Given the description of an element on the screen output the (x, y) to click on. 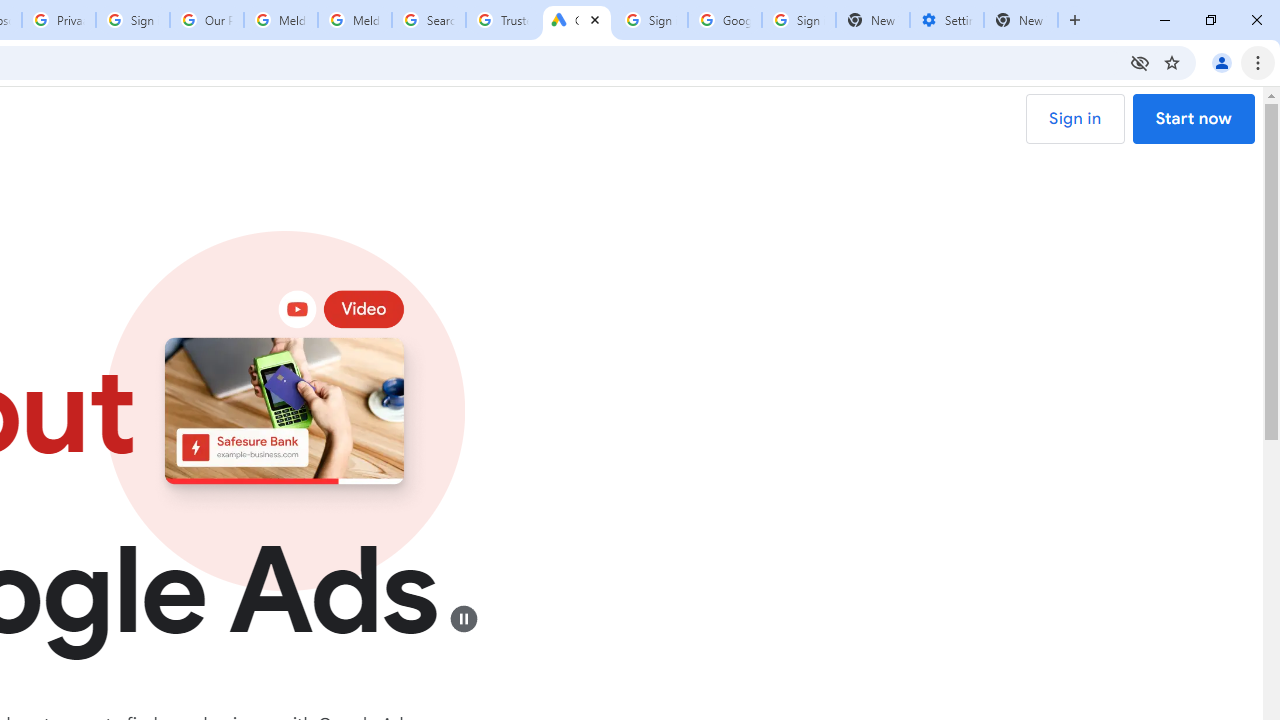
Sign in - Google Accounts (133, 20)
Sign in - Google Accounts (651, 20)
Google Cybersecurity Innovations - Google Safety Center (724, 20)
Sign in - Google Accounts (798, 20)
Start now (1192, 119)
